Given the description of an element on the screen output the (x, y) to click on. 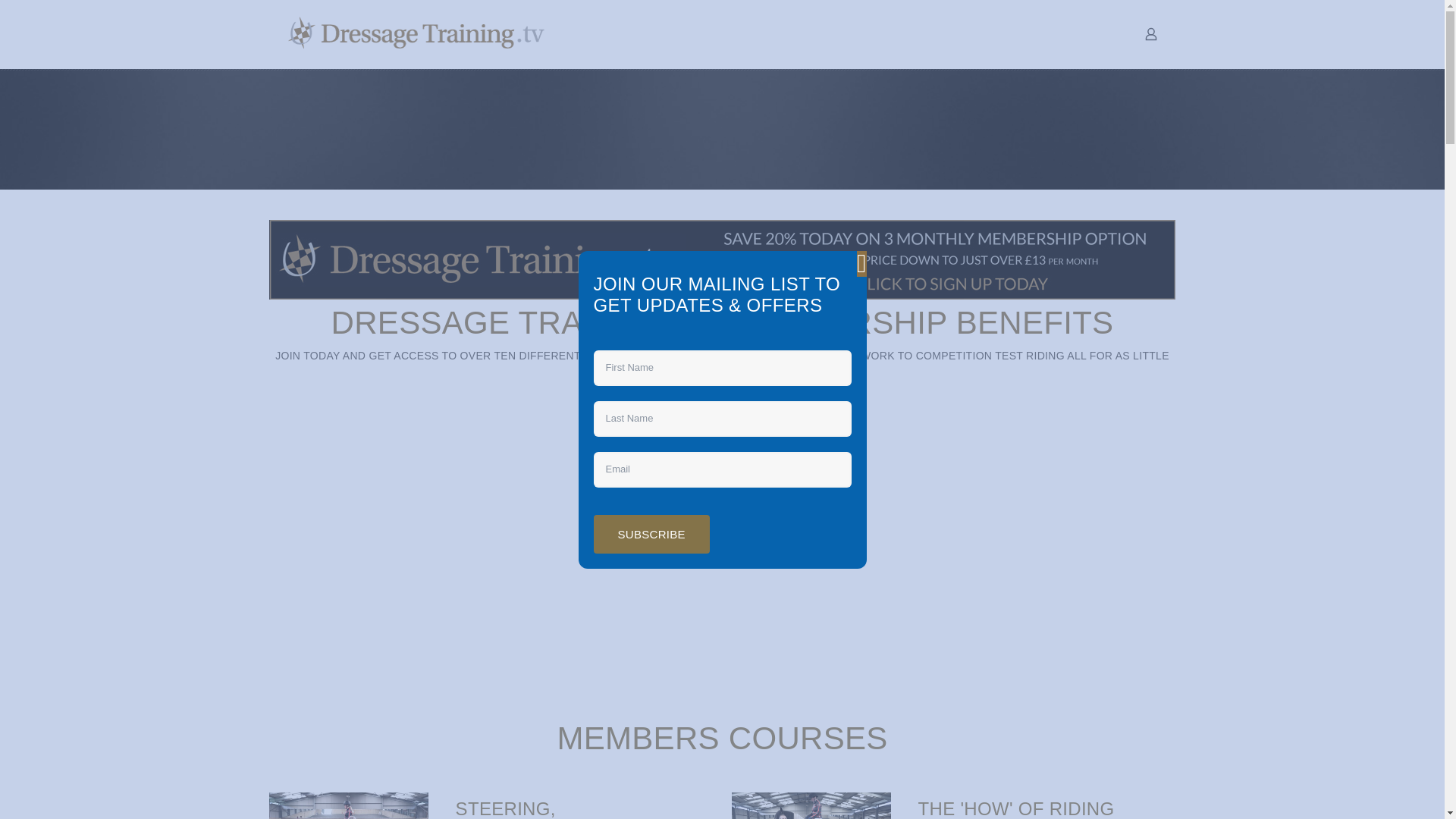
BLOG (789, 33)
Dressage Training TV (415, 33)
JOIN US (1034, 33)
ABOUT US (698, 33)
HOME (606, 33)
JOIN TODAY (307, 355)
